Given the description of an element on the screen output the (x, y) to click on. 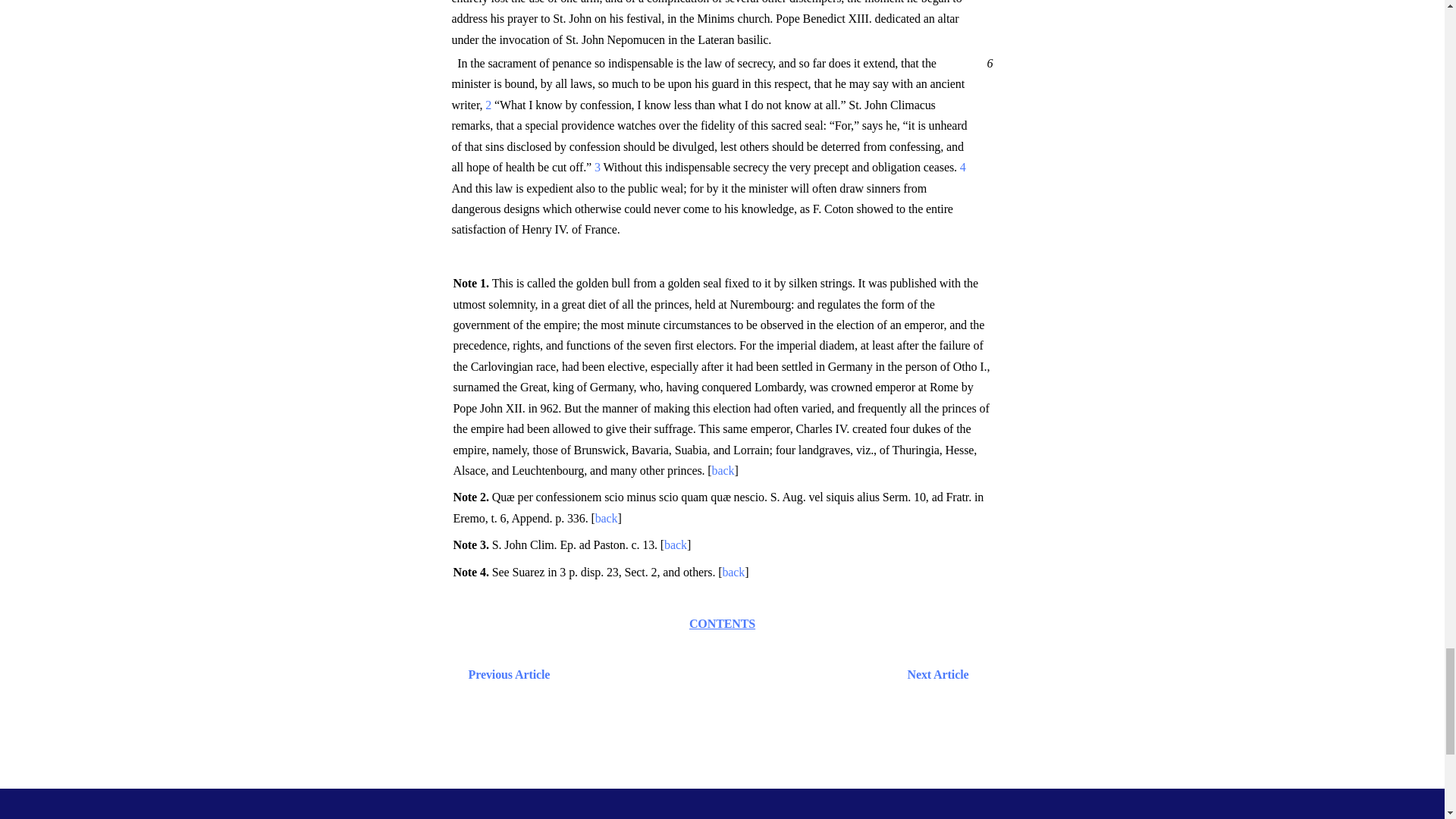
back (606, 517)
Note 2. (472, 496)
Note 1. (472, 282)
back (723, 470)
  6 (986, 62)
Note 3. (472, 544)
